Given the description of an element on the screen output the (x, y) to click on. 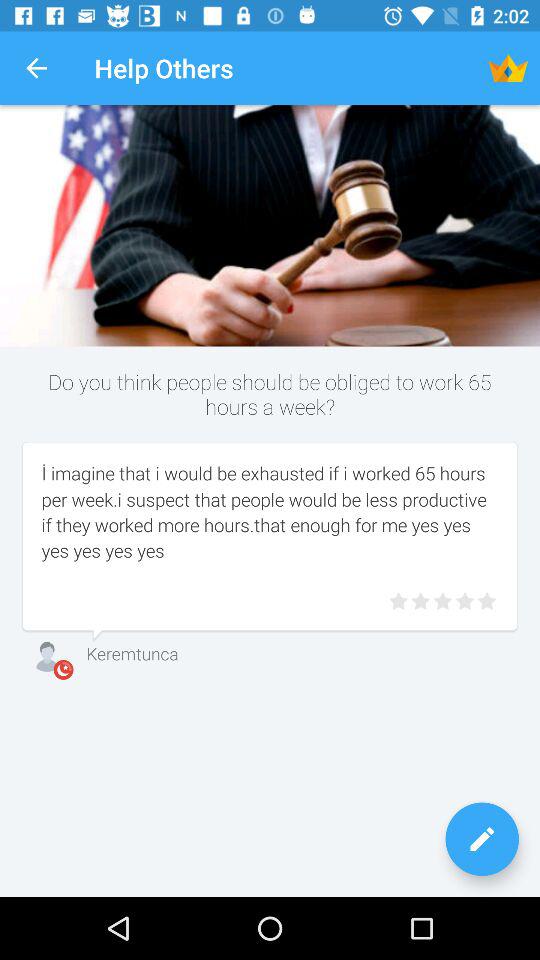
launch the item at the bottom right corner (482, 839)
